Given the description of an element on the screen output the (x, y) to click on. 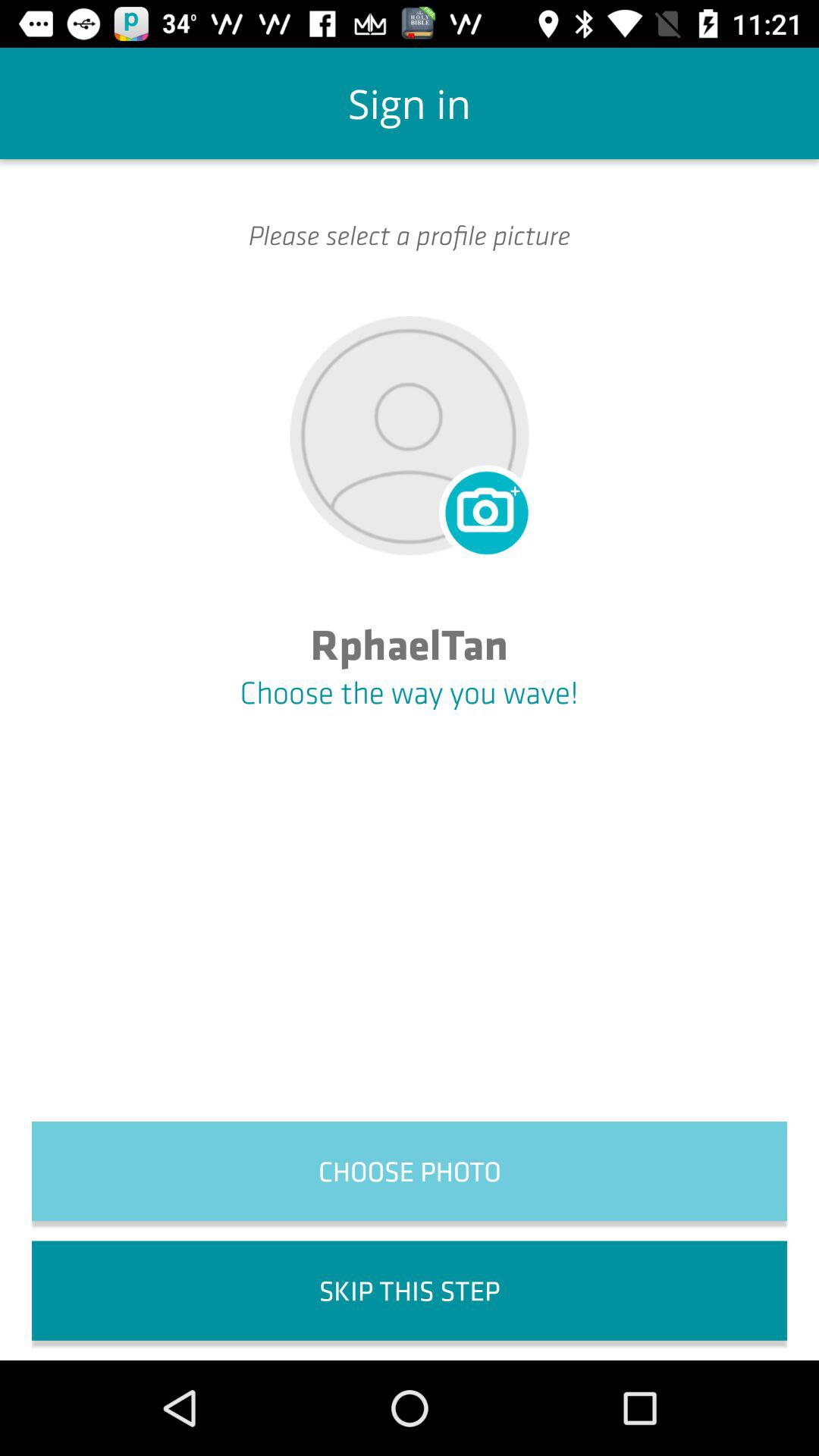
press the icon below choose the way icon (409, 1171)
